Given the description of an element on the screen output the (x, y) to click on. 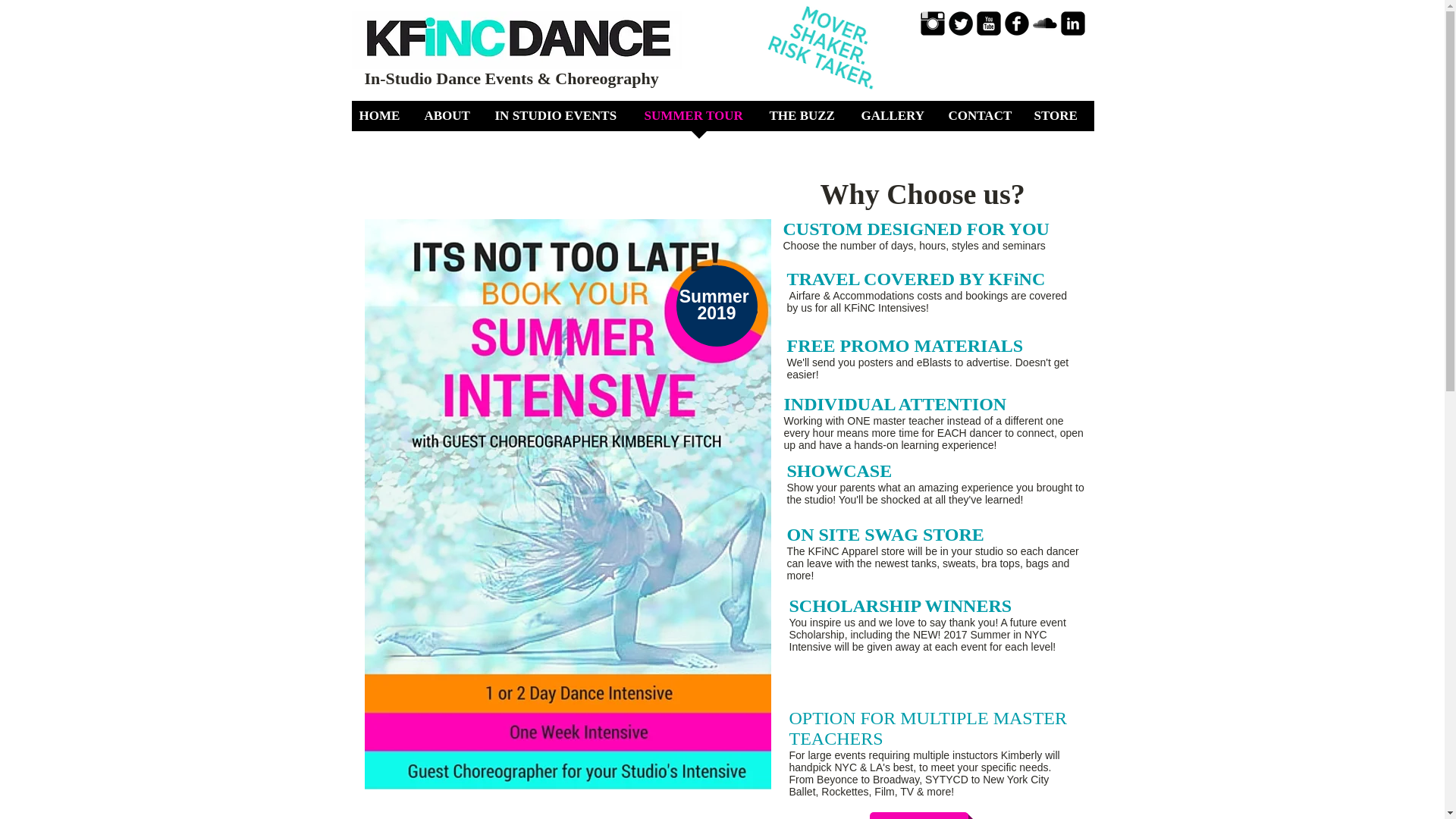
ABOUT (451, 120)
SUMMER TOUR (699, 120)
MSRT 2015.png (821, 24)
GALLERY (896, 120)
CONTACT (983, 120)
STORE (1060, 120)
BOOK NOW (918, 815)
HOME (384, 120)
IN STUDIO EVENTS (561, 120)
THE BUZZ (807, 120)
